Given the description of an element on the screen output the (x, y) to click on. 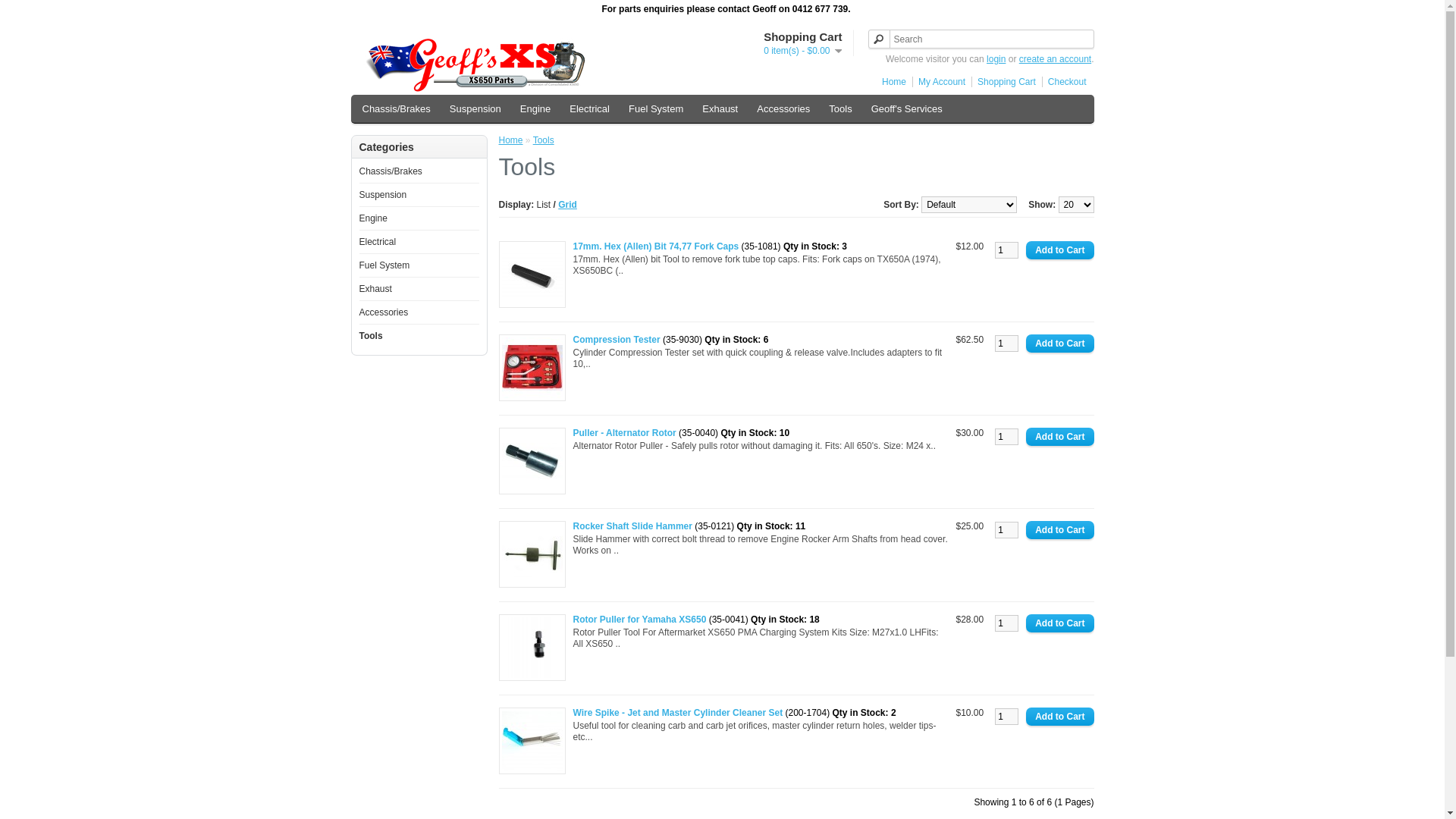
Geoff's Services Element type: text (906, 109)
login Element type: text (995, 58)
Fuel System Element type: text (655, 109)
Add to Cart Element type: text (1059, 343)
Home Element type: text (891, 81)
Checkout Element type: text (1063, 81)
Add to Cart Element type: text (1059, 250)
My Account Element type: text (938, 81)
Fuel System Element type: text (384, 265)
Shopping Cart Element type: text (1003, 81)
Puller - Alternator Rotor Element type: hover (531, 460)
Tools Element type: text (370, 335)
Engine Element type: text (373, 218)
Rocker Shaft Slide Hammer Element type: text (632, 525)
17mm. Hex (Allen) Bit 74,77 Fork Caps Element type: hover (531, 274)
Engine Element type: text (535, 109)
0 item(s) - $0.00 Element type: text (801, 50)
Wire Spike - Jet and Master Cylinder Cleaner Set Element type: text (678, 712)
Add to Cart Element type: text (1059, 436)
Rocker Shaft Slide Hammer Element type: hover (531, 553)
Rotor Puller for Yamaha XS650 Element type: text (639, 619)
Geoff'sXS Element type: hover (475, 64)
Add to Cart Element type: text (1059, 529)
Accessories Element type: text (783, 109)
Chassis/Brakes Element type: text (390, 171)
17mm. Hex (Allen) Bit 74,77 Fork Caps Element type: text (656, 246)
Electrical Element type: text (589, 109)
Tools Element type: text (543, 139)
Suspension Element type: text (475, 109)
Chassis/Brakes Element type: text (396, 109)
Wire Spike - Jet and Master Cylinder Cleaner Set Element type: hover (531, 740)
Exhaust Element type: text (375, 288)
Compression Tester Element type: hover (531, 367)
Add to Cart Element type: text (1059, 623)
Home Element type: text (510, 139)
Electrical Element type: text (377, 241)
create an account Element type: text (1055, 58)
Compression Tester Element type: text (616, 339)
Add to Cart Element type: text (1059, 716)
Exhaust Element type: text (719, 109)
Puller - Alternator Rotor Element type: text (624, 432)
Rotor Puller for Yamaha XS650 Element type: hover (531, 647)
Grid Element type: text (567, 204)
Suspension Element type: text (383, 194)
Tools Element type: text (840, 109)
Accessories Element type: text (383, 312)
